Given the description of an element on the screen output the (x, y) to click on. 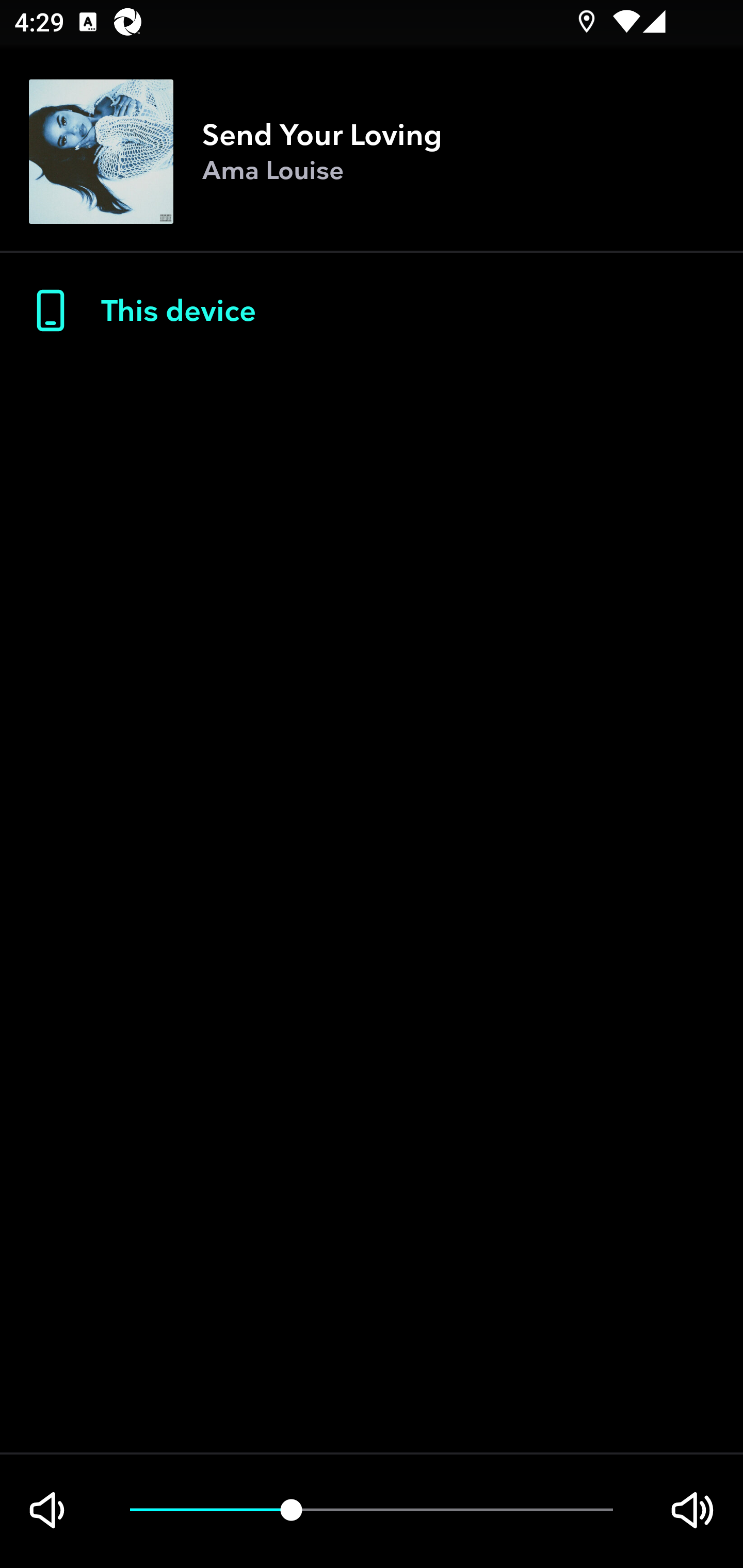
This device (371, 310)
